Given the description of an element on the screen output the (x, y) to click on. 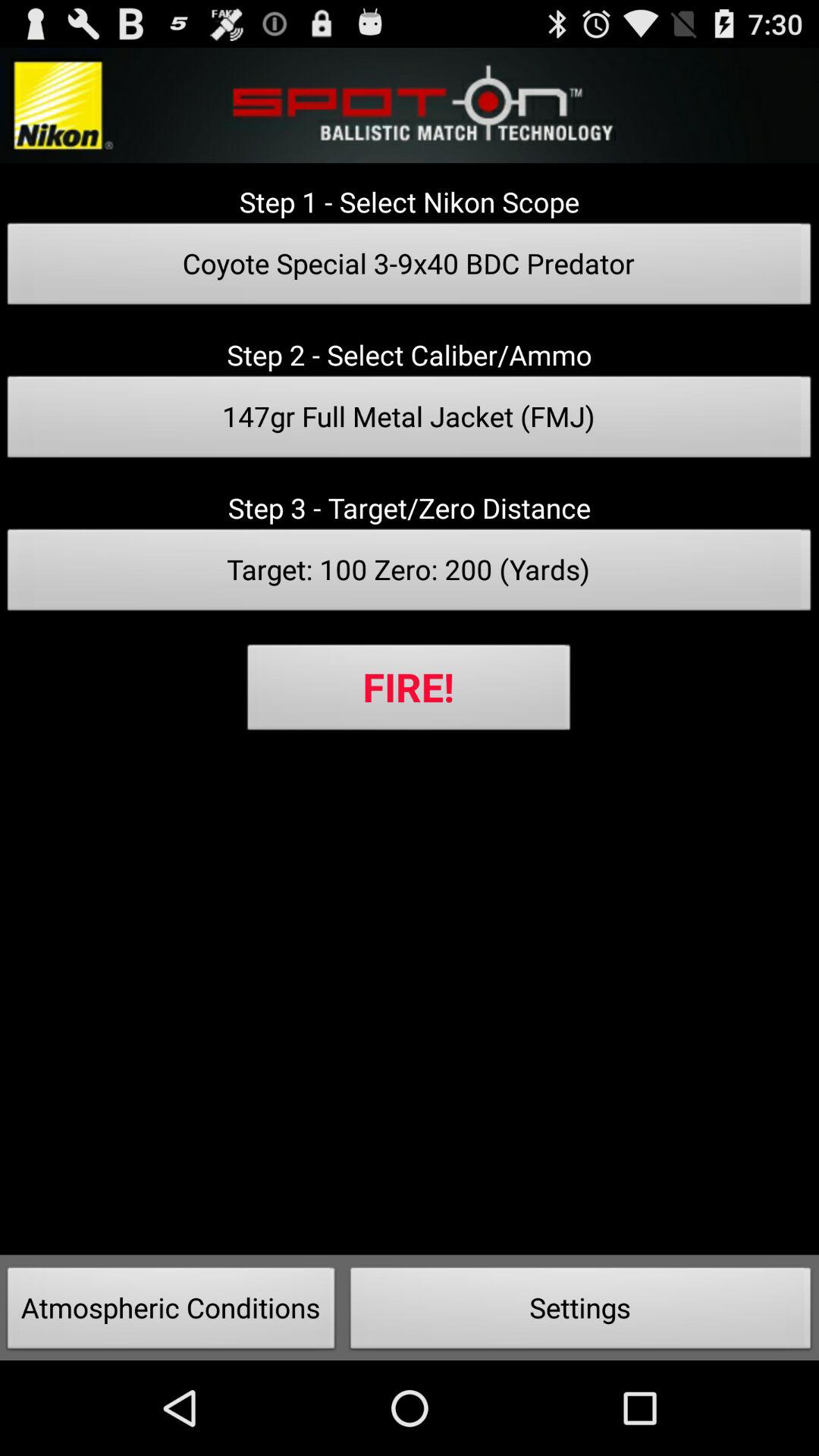
tap the item to the right of atmospheric conditions item (580, 1312)
